Given the description of an element on the screen output the (x, y) to click on. 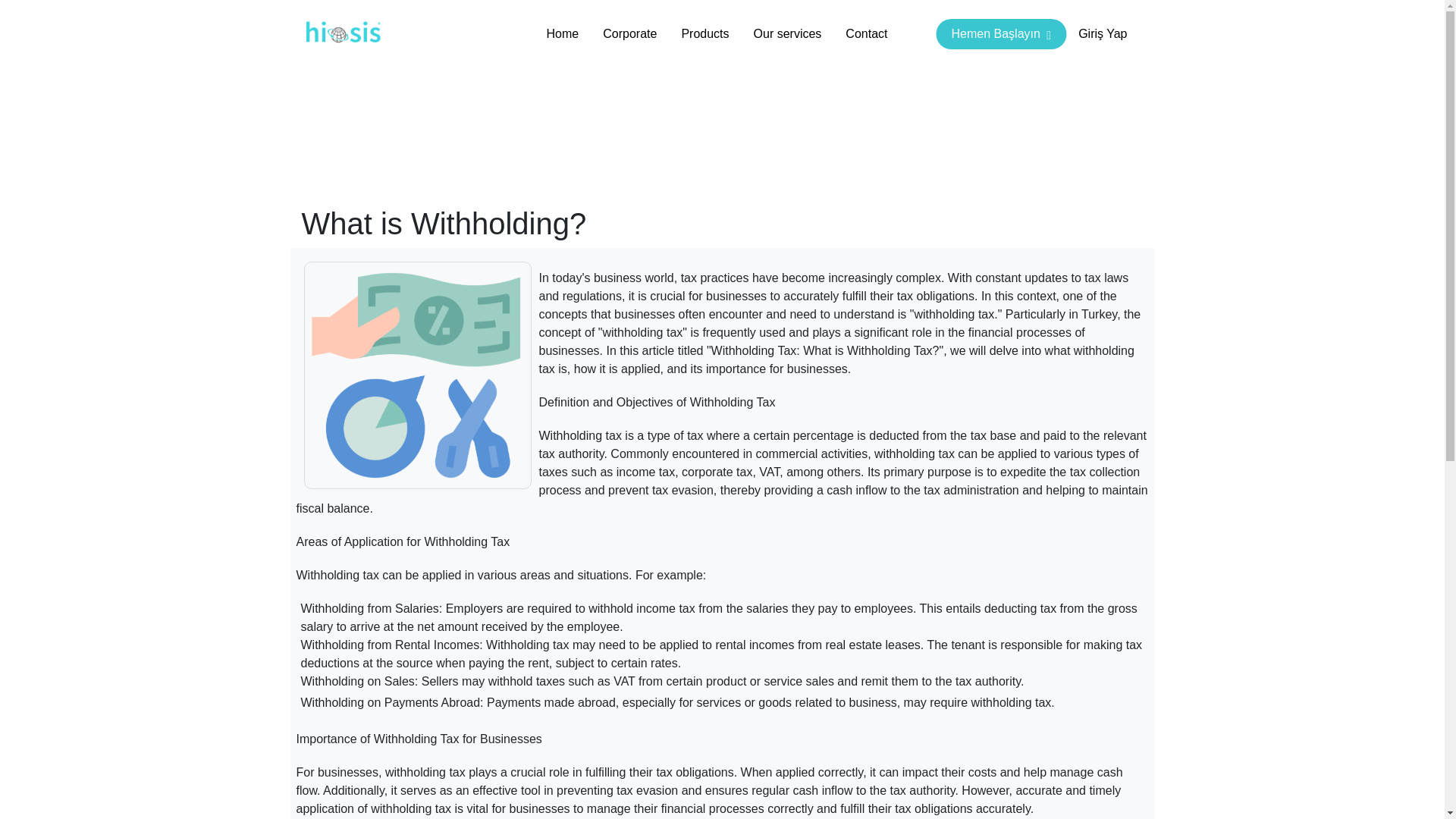
Products (704, 33)
Contact (865, 33)
Corporate (629, 33)
What is Withholding? (416, 374)
Home (562, 33)
Our services (787, 33)
